Given the description of an element on the screen output the (x, y) to click on. 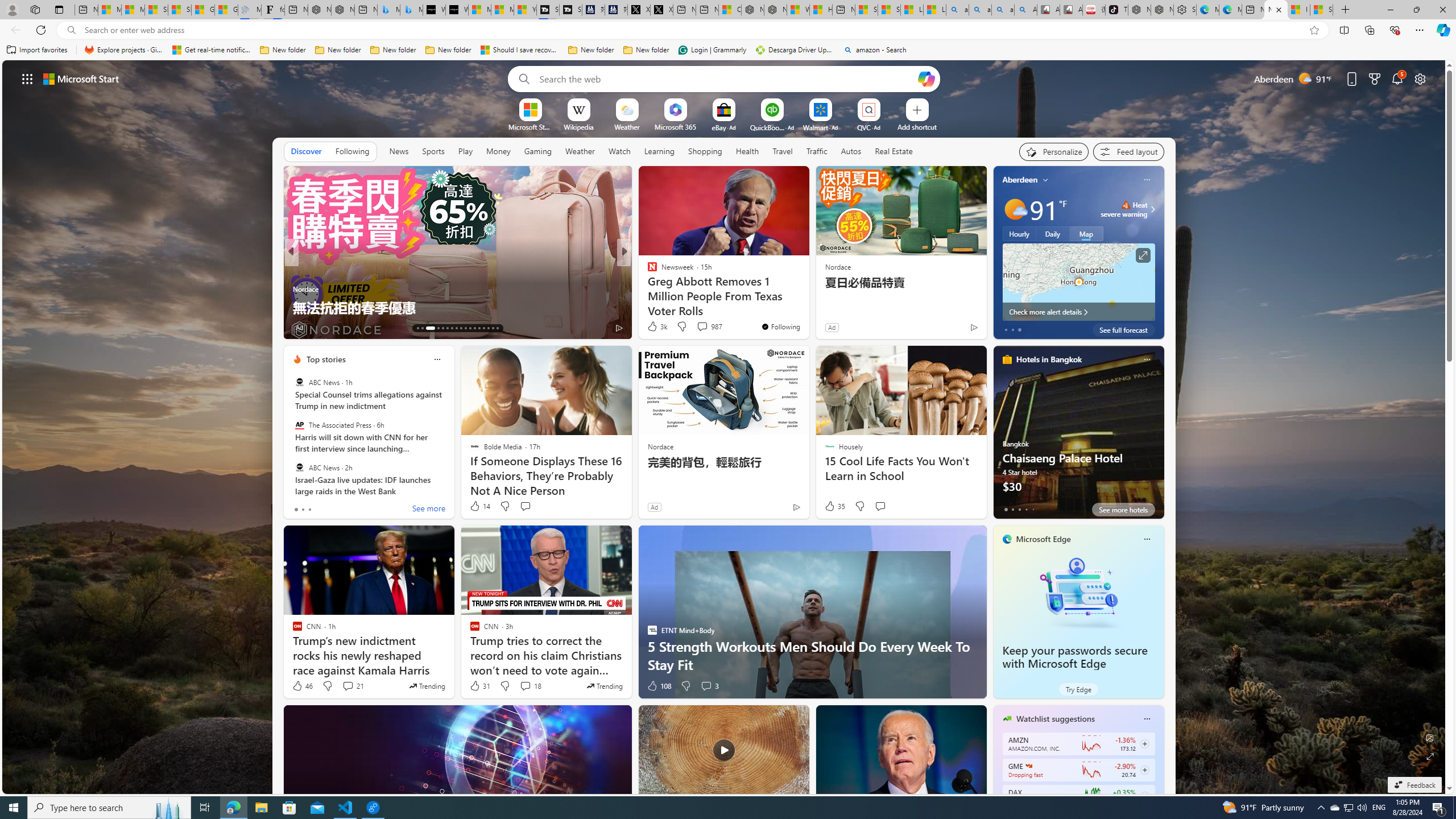
FOX News (647, 270)
View comments 18 Comment (530, 685)
AutomationID: tab-21 (460, 328)
Microsoft start (81, 78)
108 Like (658, 685)
AutomationID: tab-23 (470, 328)
The Independent (647, 270)
AutomationID: tab-29 (497, 328)
14 Like (479, 505)
Don't Use an Ordinary Backpack (807, 307)
Mostly sunny (1014, 208)
